Given the description of an element on the screen output the (x, y) to click on. 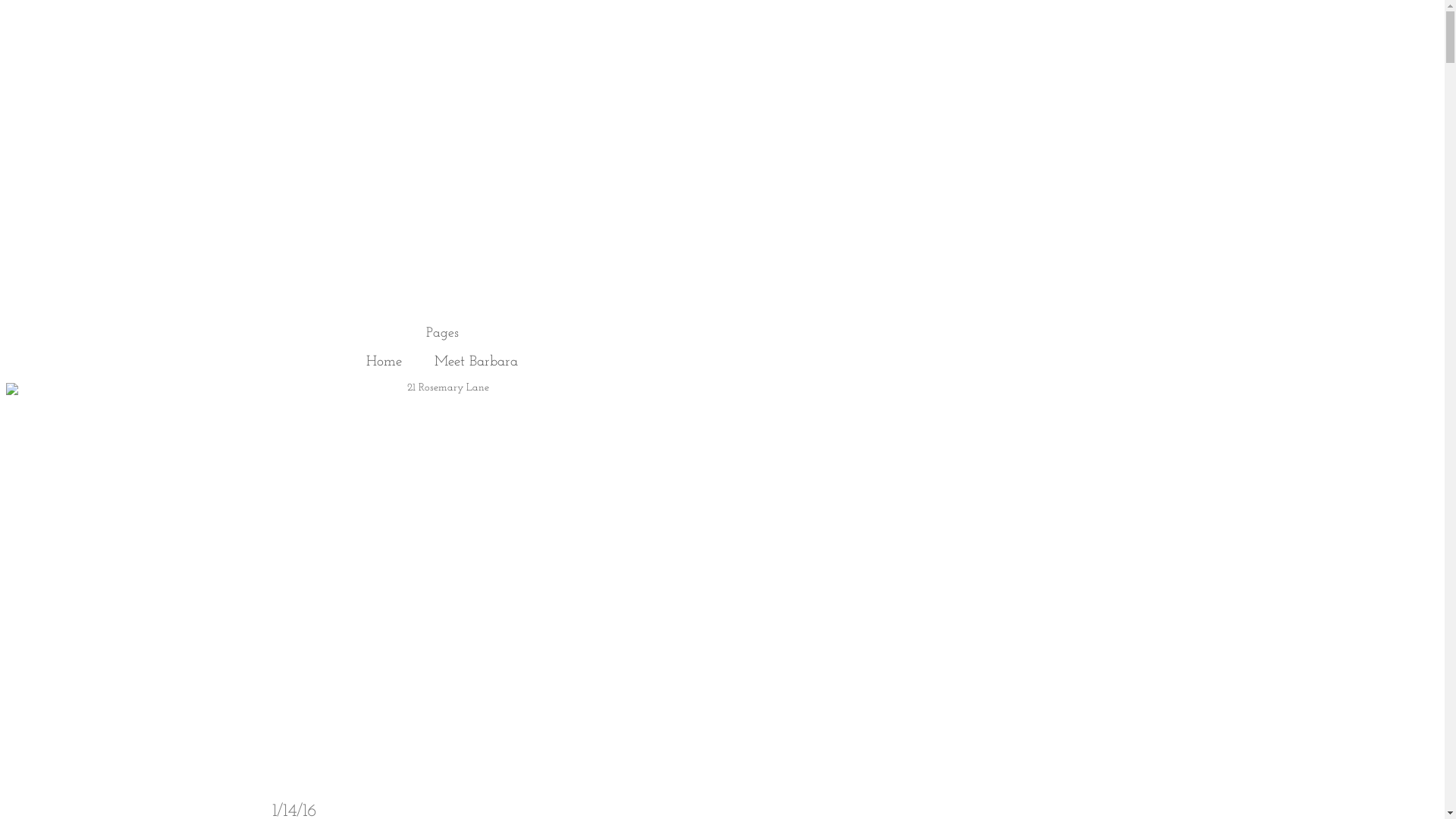
Home Element type: text (384, 362)
Meet Barbara Element type: text (476, 362)
